Given the description of an element on the screen output the (x, y) to click on. 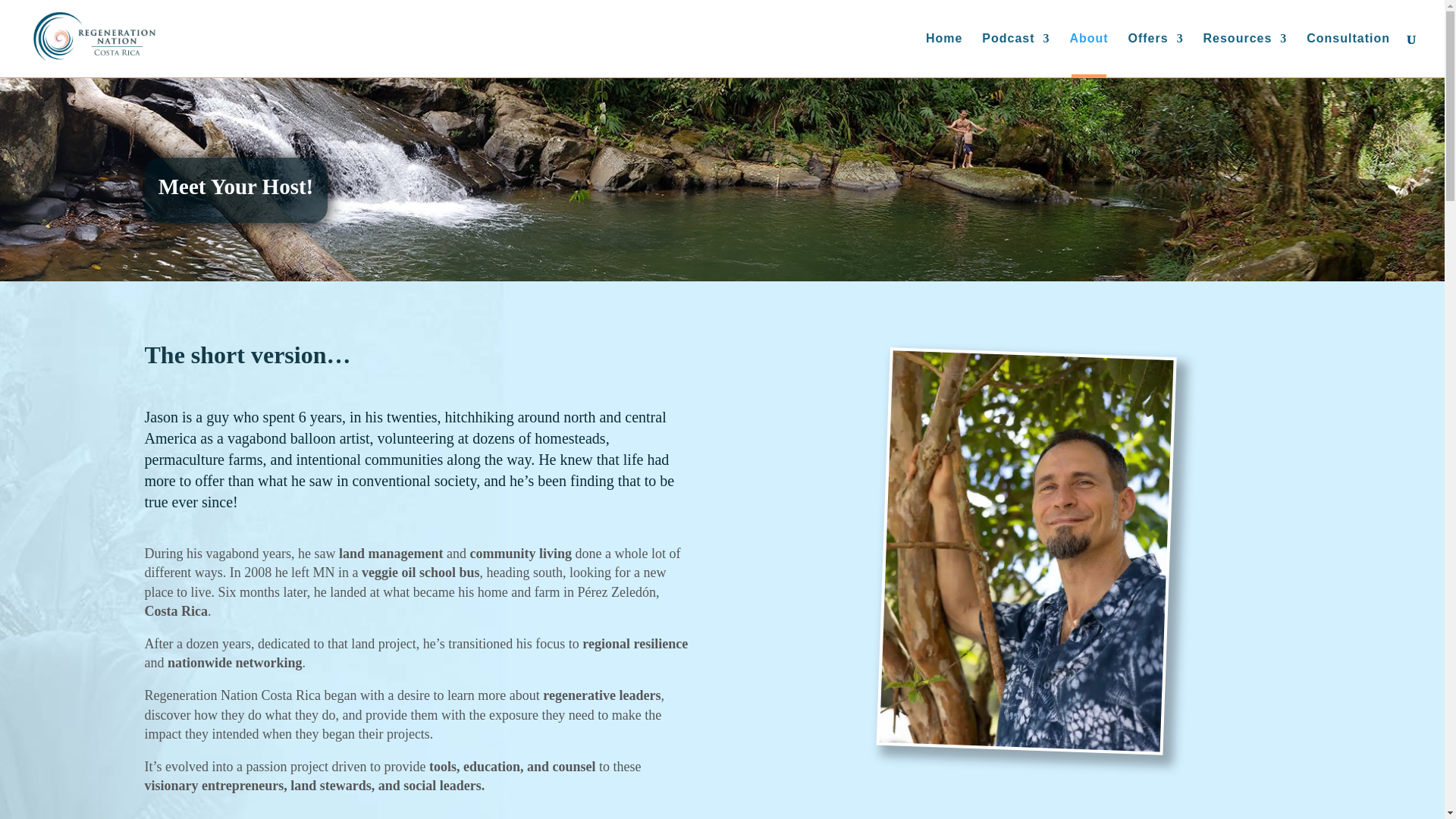
Resources (1245, 54)
Consultation (1348, 54)
Offers (1155, 54)
Podcast (1015, 54)
Search (21, 17)
